Given the description of an element on the screen output the (x, y) to click on. 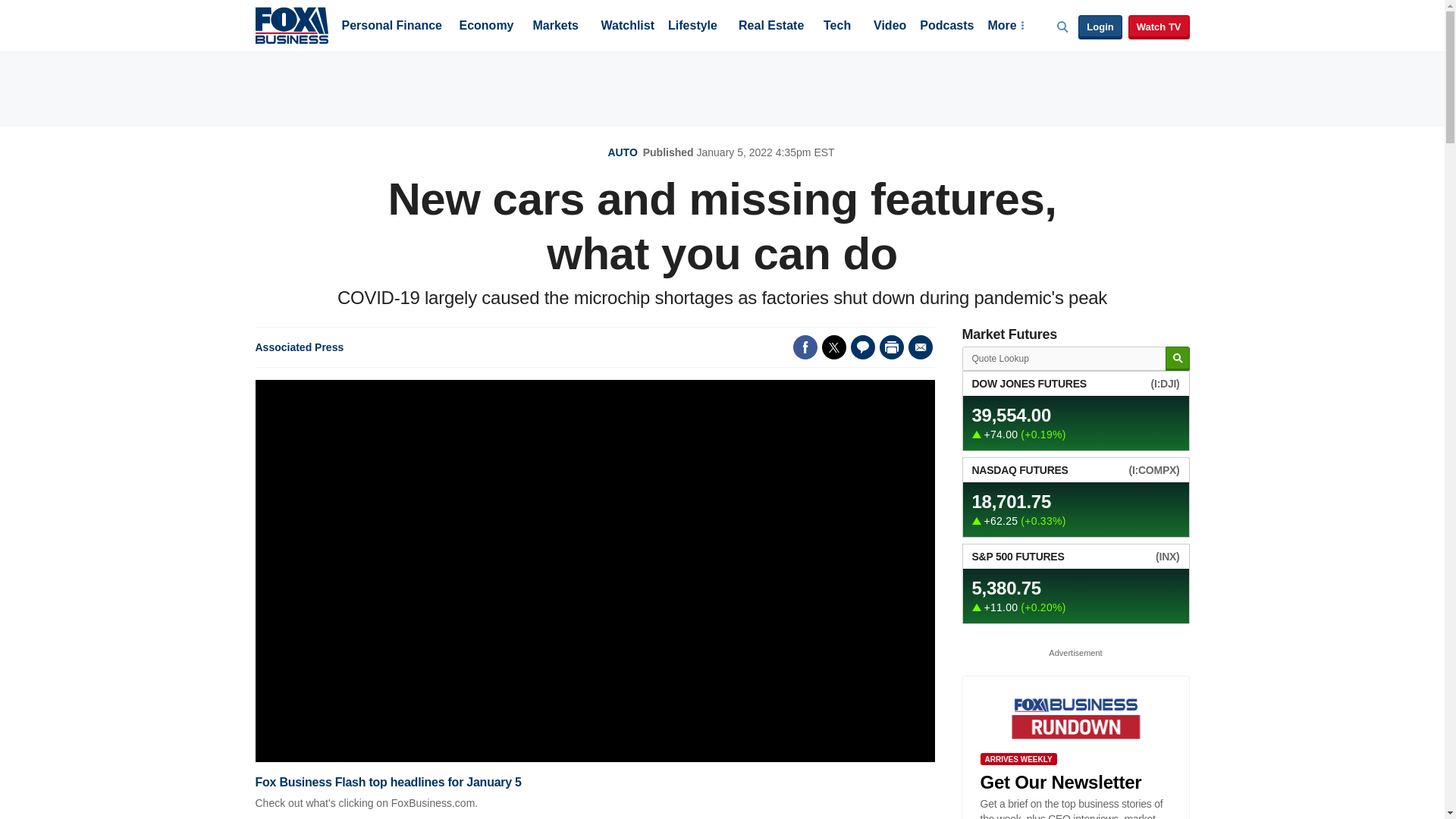
More (1005, 27)
Tech (837, 27)
Markets (555, 27)
Economy (486, 27)
Real Estate (770, 27)
Watch TV (1158, 27)
Watchlist (626, 27)
Personal Finance (391, 27)
Video (889, 27)
Podcasts (947, 27)
